Given the description of an element on the screen output the (x, y) to click on. 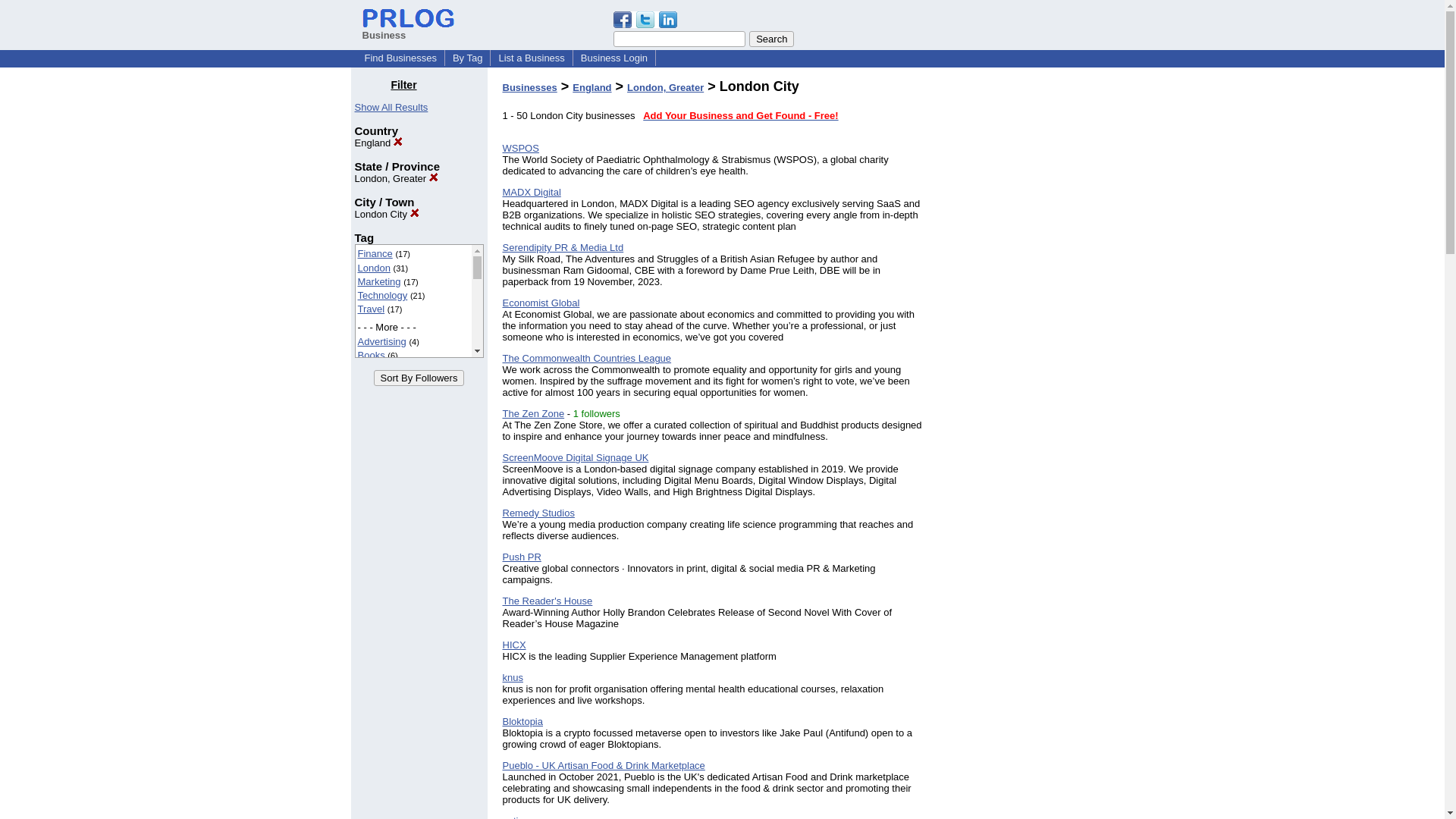
Investment (382, 520)
Click to remove this filter (379, 142)
Search (771, 38)
Education (379, 409)
By Tag (467, 57)
London, Greater (396, 178)
Music (371, 562)
Photography (385, 575)
Fitness (374, 478)
Show All Results (391, 107)
